Given the description of an element on the screen output the (x, y) to click on. 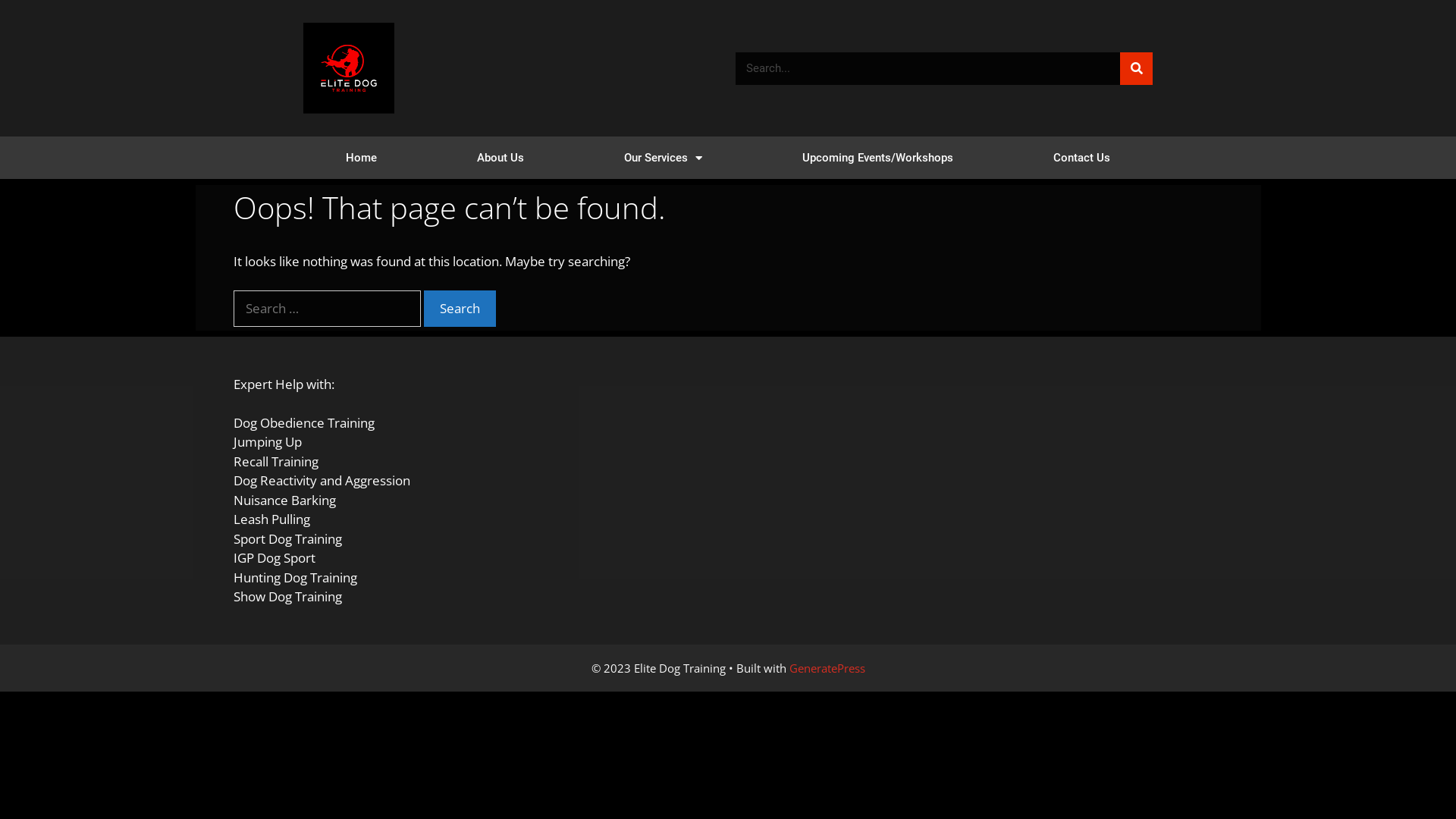
Search for: Element type: hover (326, 308)
Upcoming Events/Workshops Element type: text (877, 157)
GeneratePress Element type: text (826, 666)
Search Element type: hover (927, 67)
Search Element type: text (459, 308)
Search Element type: hover (1136, 67)
Home Element type: text (360, 157)
Contact Us Element type: text (1081, 157)
Our Services Element type: text (663, 157)
About Us Element type: text (500, 157)
